Given the description of an element on the screen output the (x, y) to click on. 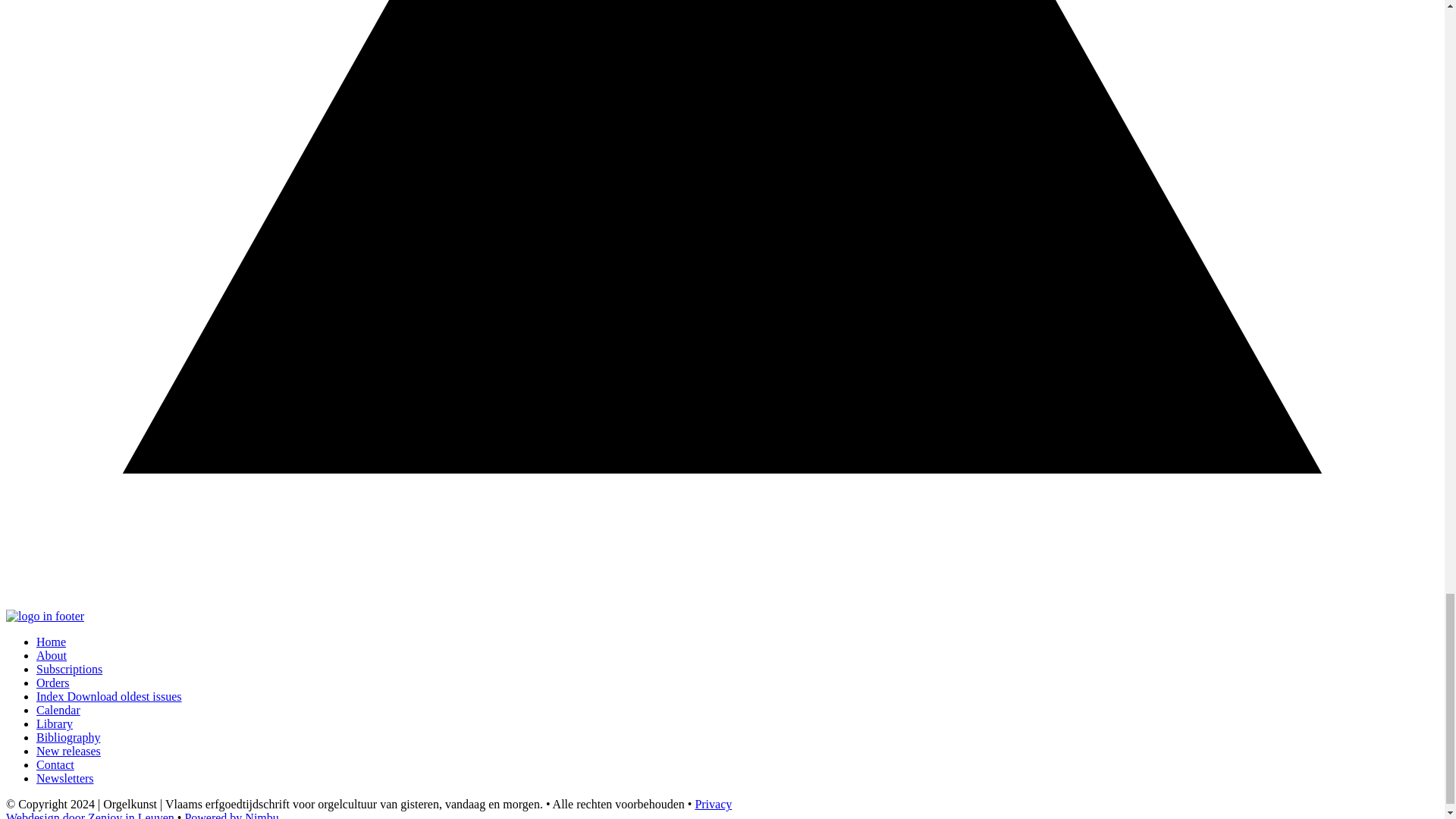
Home (50, 641)
About (51, 655)
Subscriptions (68, 668)
Orders (52, 682)
Index Download oldest issues (109, 696)
